Given the description of an element on the screen output the (x, y) to click on. 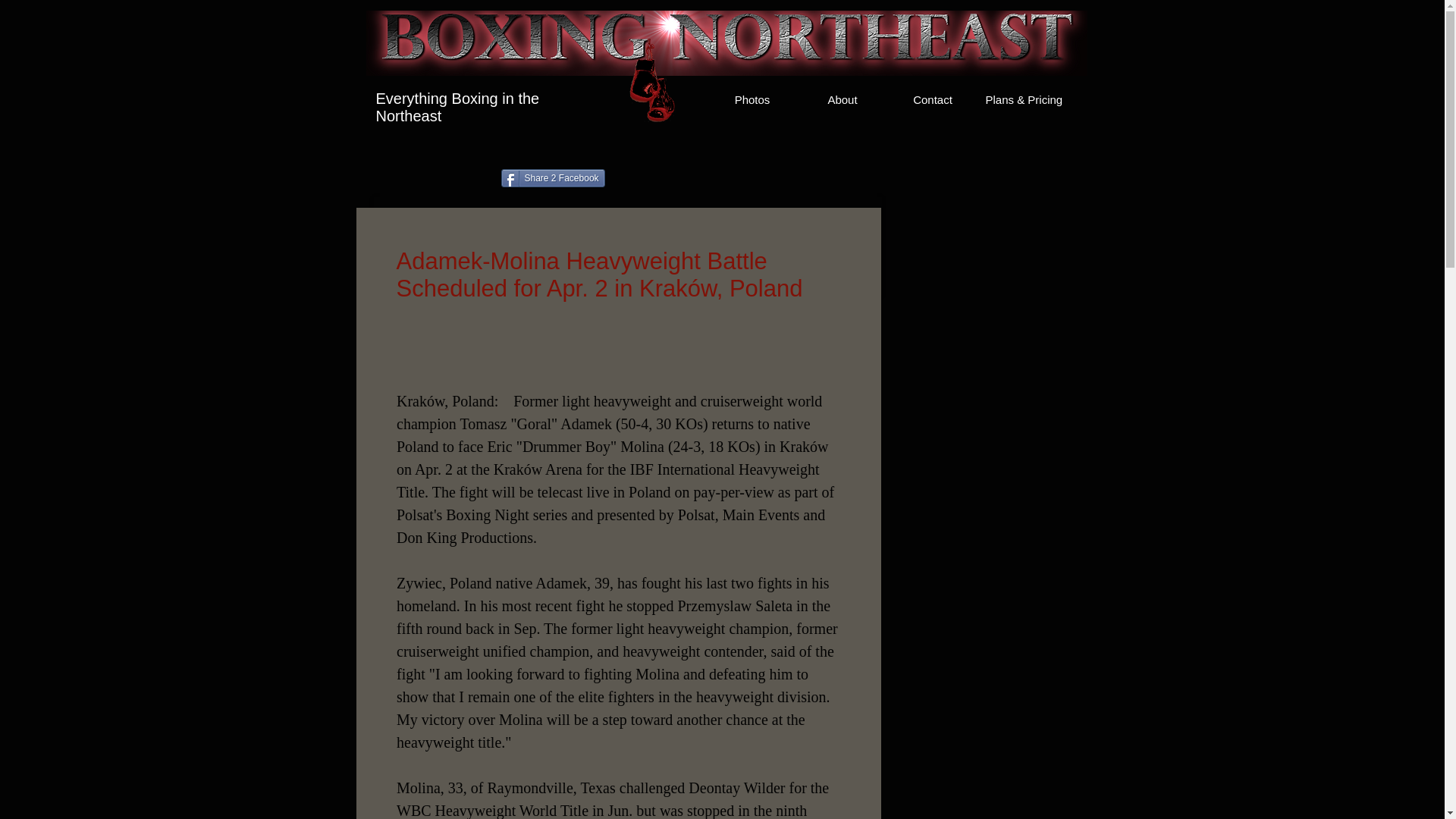
Logo.png (651, 80)
Twitter Tweet (700, 180)
boxing2.png (725, 43)
Share (853, 217)
Facebook Like (394, 180)
Share (853, 217)
Share 2 Facebook (552, 177)
About (842, 99)
Contact (931, 99)
Share 2 Facebook (552, 177)
